Given the description of an element on the screen output the (x, y) to click on. 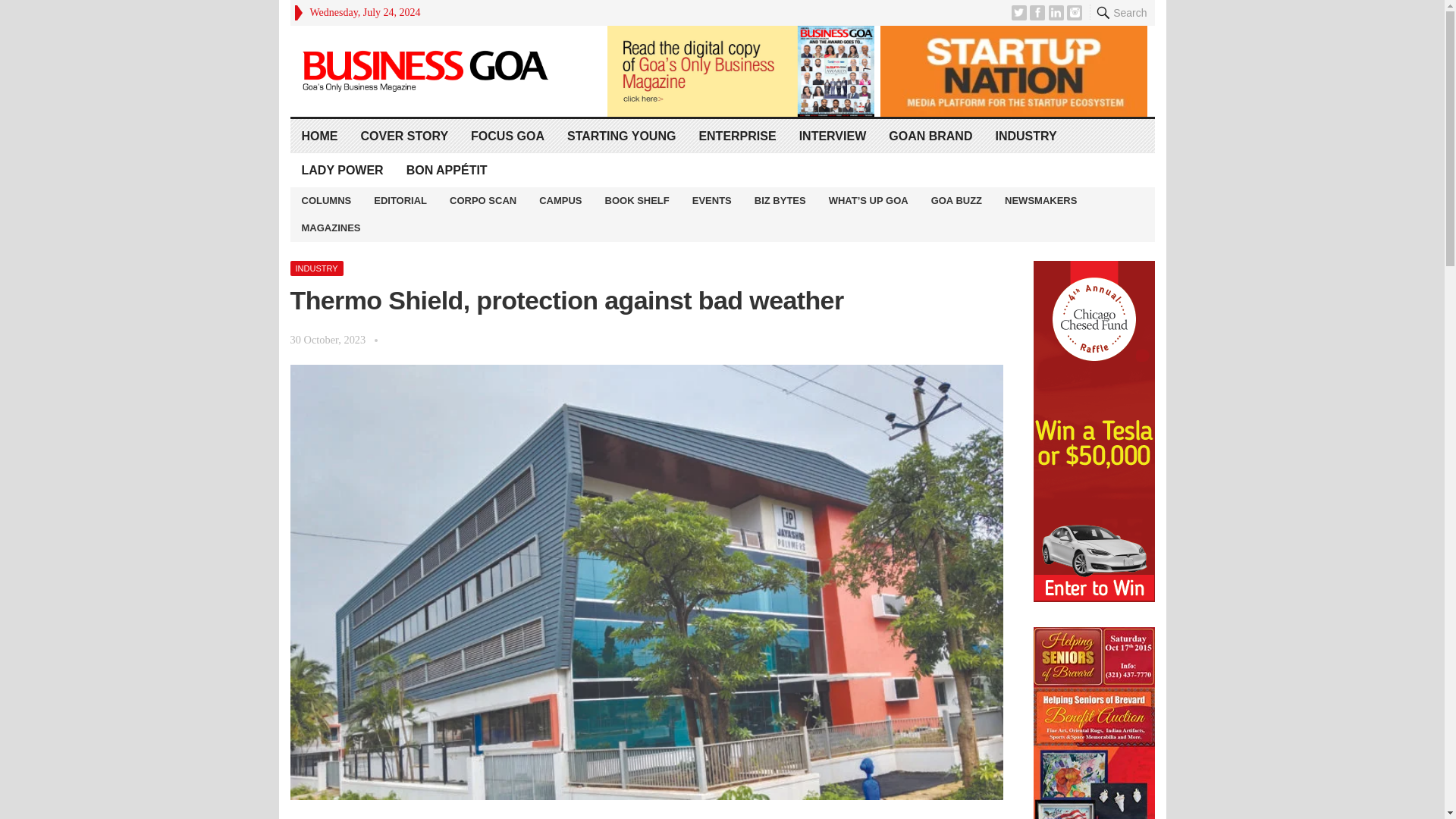
STARTING YOUNG (621, 135)
FOCUS GOA (508, 135)
ENTERPRISE (737, 135)
CORPO SCAN (482, 200)
COLUMNS (325, 200)
LADY POWER (341, 170)
INDUSTRY (1025, 135)
BOOK SHELF (637, 200)
INTERVIEW (832, 135)
EDITORIAL (400, 200)
GOA BUZZ (956, 200)
View all posts in Industry (315, 268)
GOAN BRAND (930, 135)
CAMPUS (559, 200)
BIZ BYTES (779, 200)
